Given the description of an element on the screen output the (x, y) to click on. 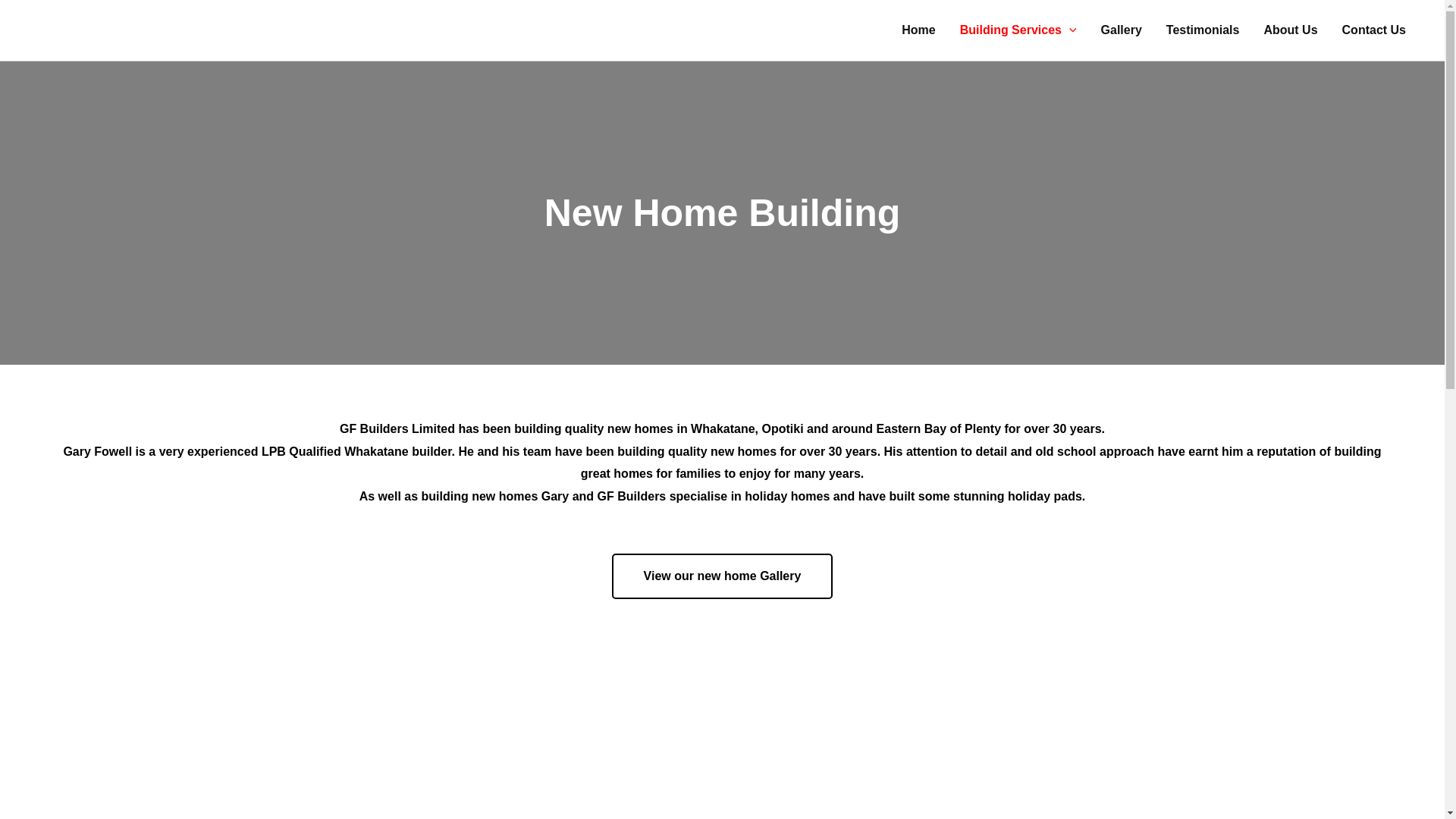
View our new home Gallery (721, 575)
Testimonials (1203, 30)
Building Services (1018, 30)
About Us (1289, 30)
Gallery (1121, 30)
Home (918, 30)
Contact Us (1374, 30)
